Given the description of an element on the screen output the (x, y) to click on. 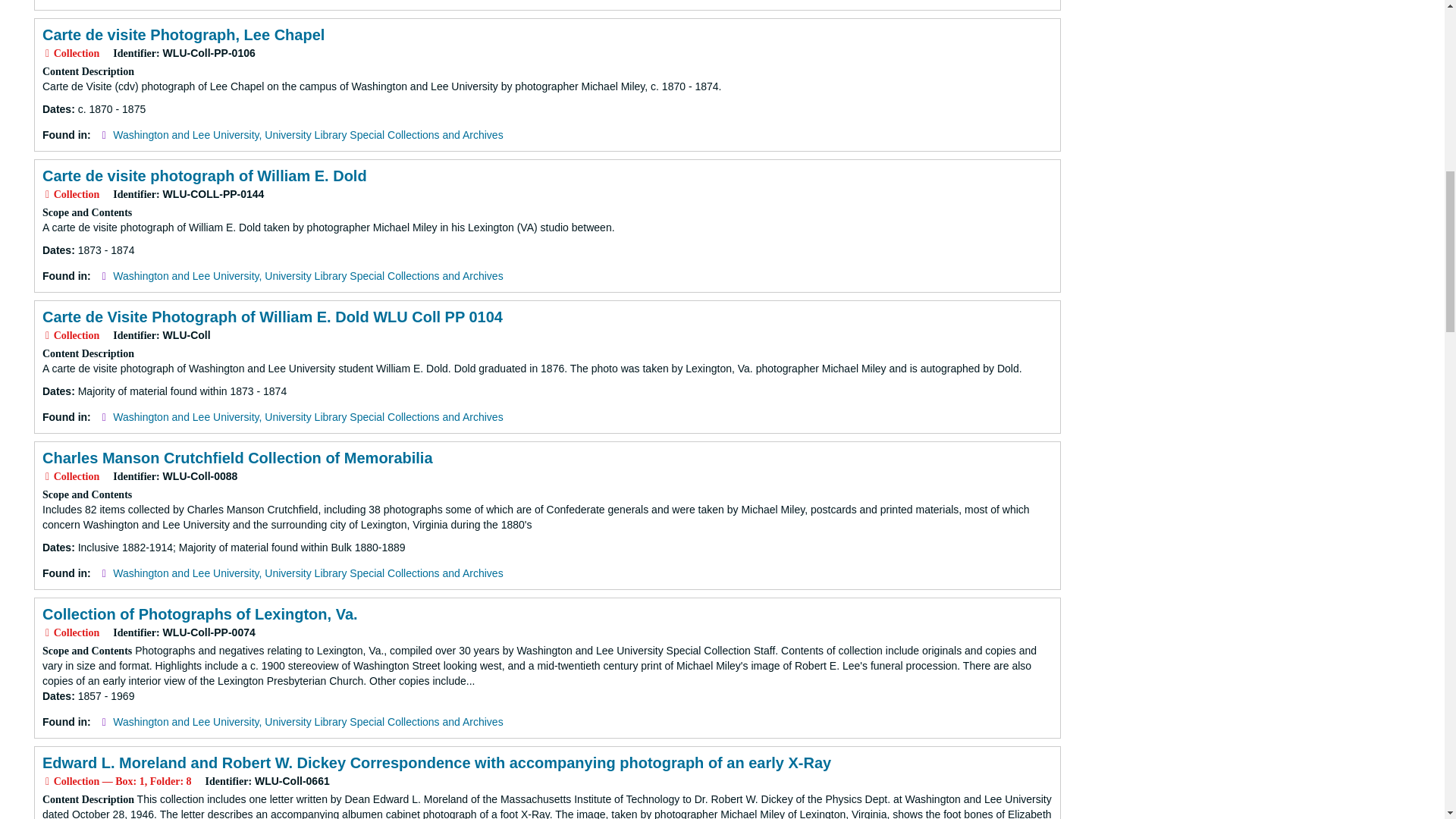
Charles Manson Crutchfield Collection of Memorabilia (237, 457)
Carte de visite photograph of William E. Dold (204, 175)
Collection of Photographs of Lexington, Va. (200, 614)
Carte de visite Photograph, Lee Chapel (183, 34)
